Given the description of an element on the screen output the (x, y) to click on. 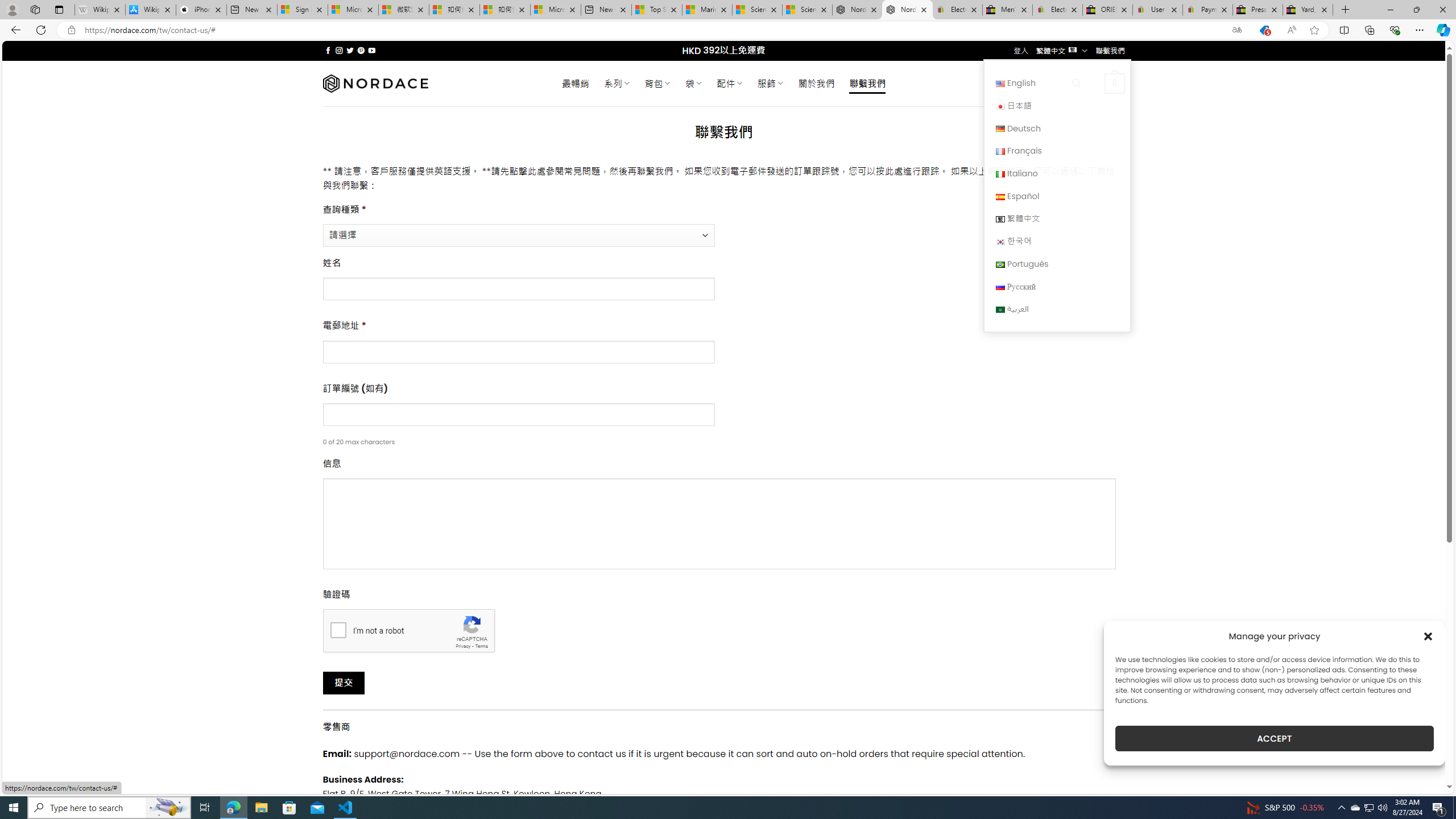
iPhone - Apple (201, 9)
Nordace - Summer Adventures 2024 (856, 9)
Italiano (999, 173)
Terms (481, 646)
